Given the description of an element on the screen output the (x, y) to click on. 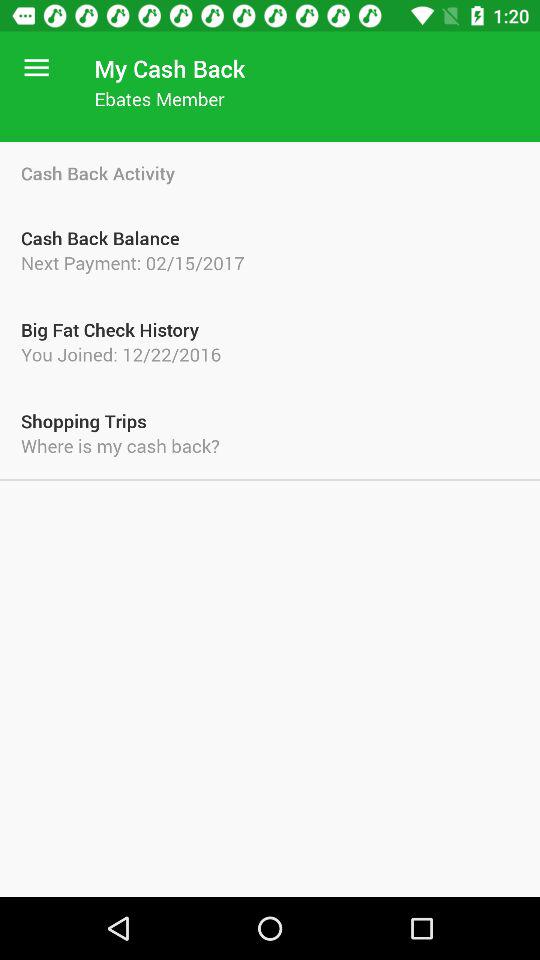
scroll until the you joined 12 icon (270, 353)
